Given the description of an element on the screen output the (x, y) to click on. 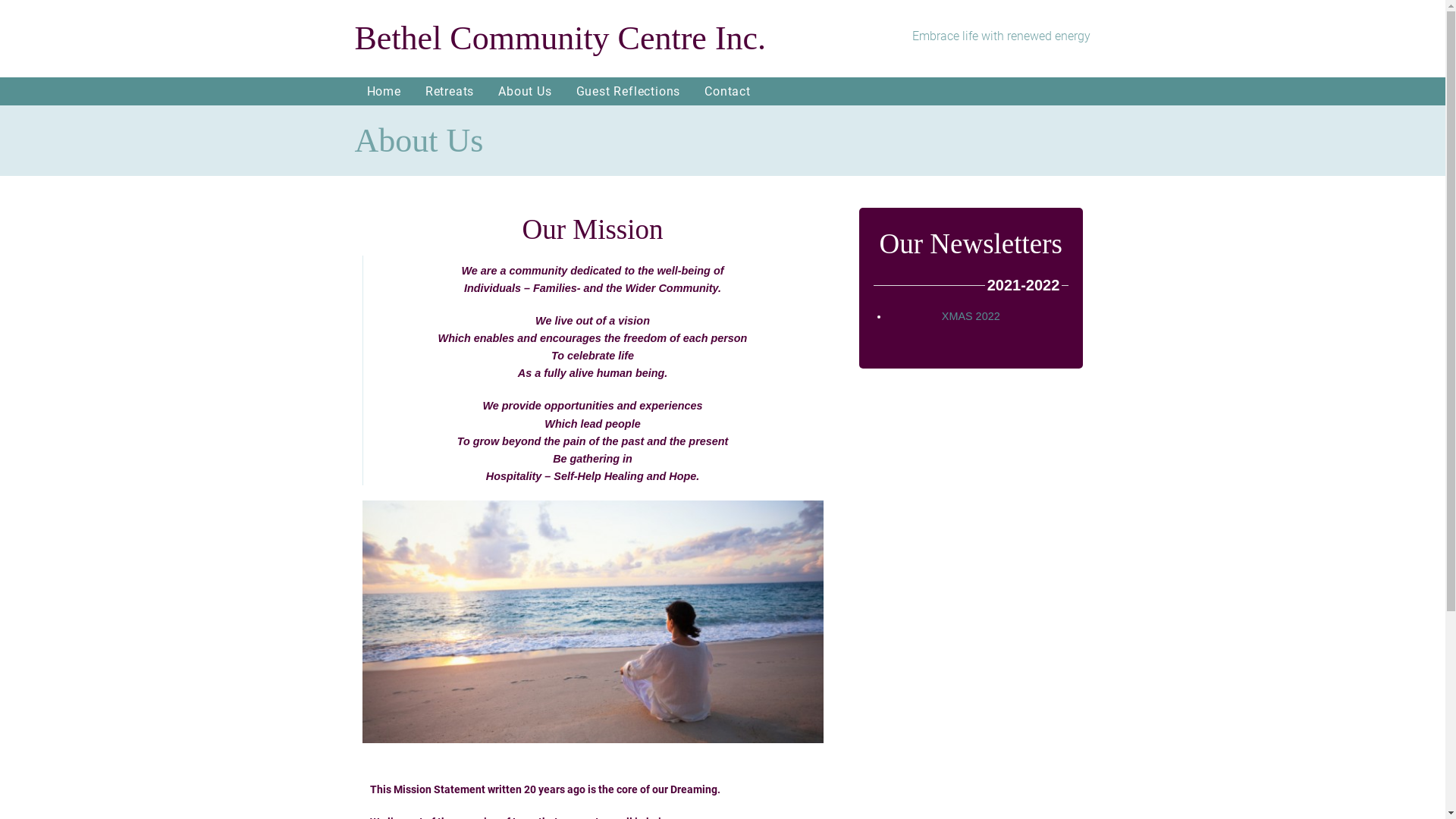
Guest Reflections Element type: text (100, 155)
Bethel Community Centre Inc. Element type: text (567, 38)
XMAS 2022 Element type: text (970, 316)
Living the Energies of Love Element type: text (100, 103)
About Us Element type: text (524, 91)
Guest Reflections Element type: text (628, 91)
Home Element type: text (100, 24)
Contact Element type: text (100, 181)
Contact Element type: text (727, 91)
Home Element type: text (383, 91)
Retreats Element type: text (100, 50)
Retreats Element type: text (449, 91)
About Us Element type: text (100, 129)
